Given the description of an element on the screen output the (x, y) to click on. 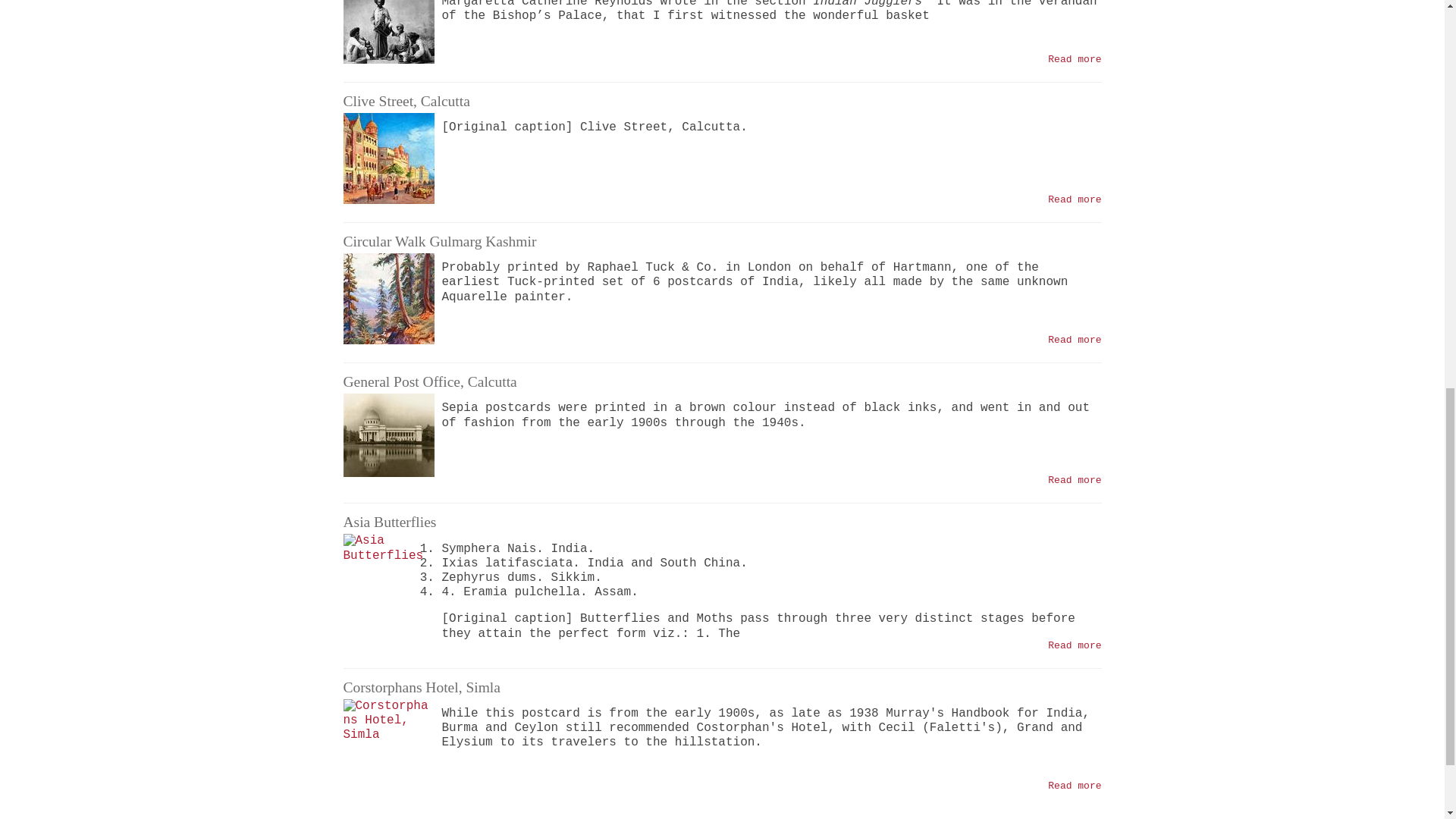
Circular Walk Gulmarg Kashmir (1074, 339)
Indian Jugglers (1074, 59)
Asia Butterflies (1074, 645)
Circular Walk Gulmarg Kashmir (387, 298)
Clive Street, Calcutta (1074, 199)
General Post Office, Calcutta (387, 438)
Clive Street, Calcutta (405, 100)
General Post Office, Calcutta (1074, 480)
Clive Street, Calcutta (1074, 59)
